Given the description of an element on the screen output the (x, y) to click on. 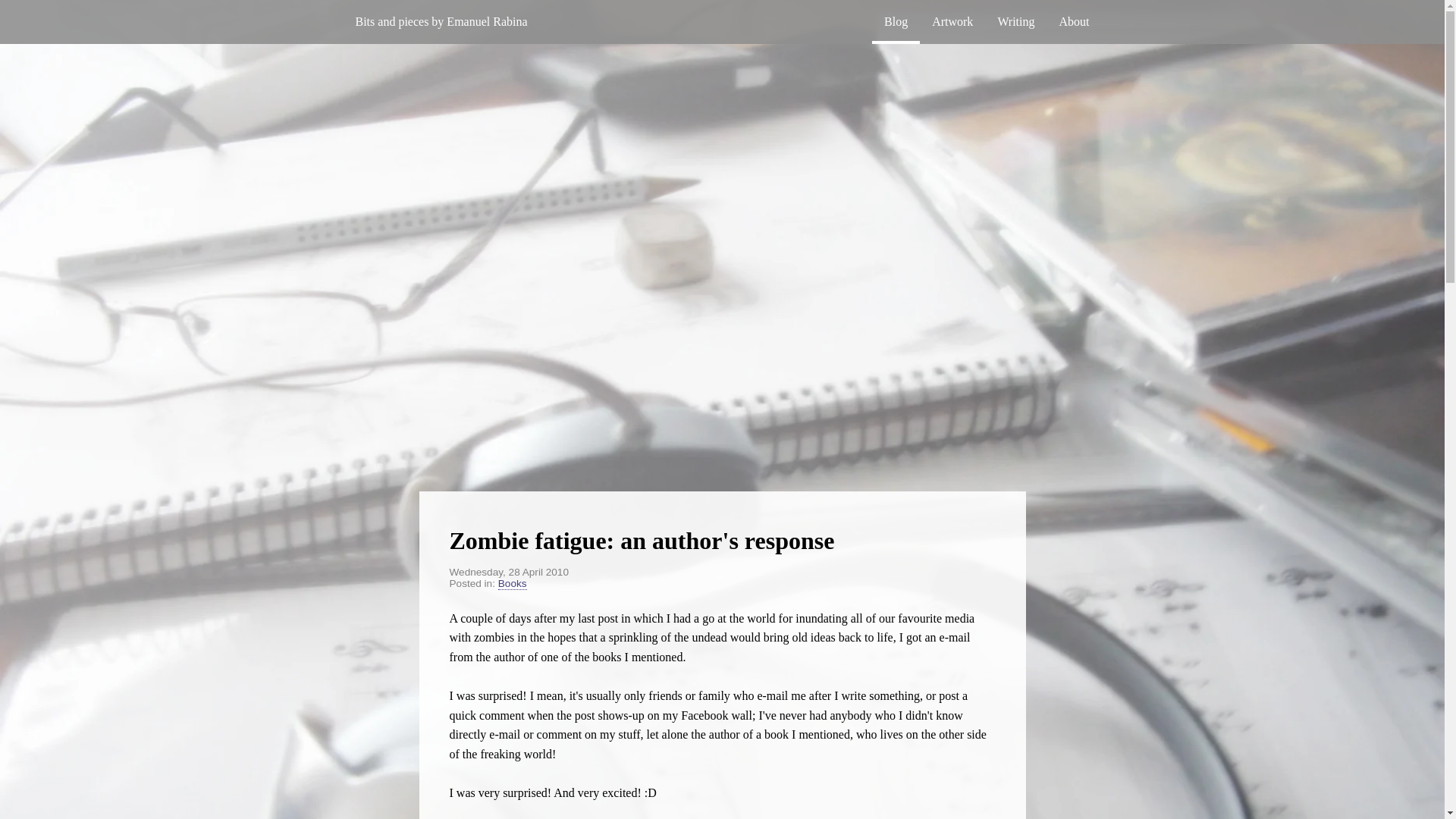
Bits and pieces by Emanuel Rabina (440, 20)
Books (512, 583)
Writing (1015, 22)
Artwork (952, 22)
Zombie fatigue: an author's response (641, 540)
Blog (896, 22)
About (1073, 22)
